Given the description of an element on the screen output the (x, y) to click on. 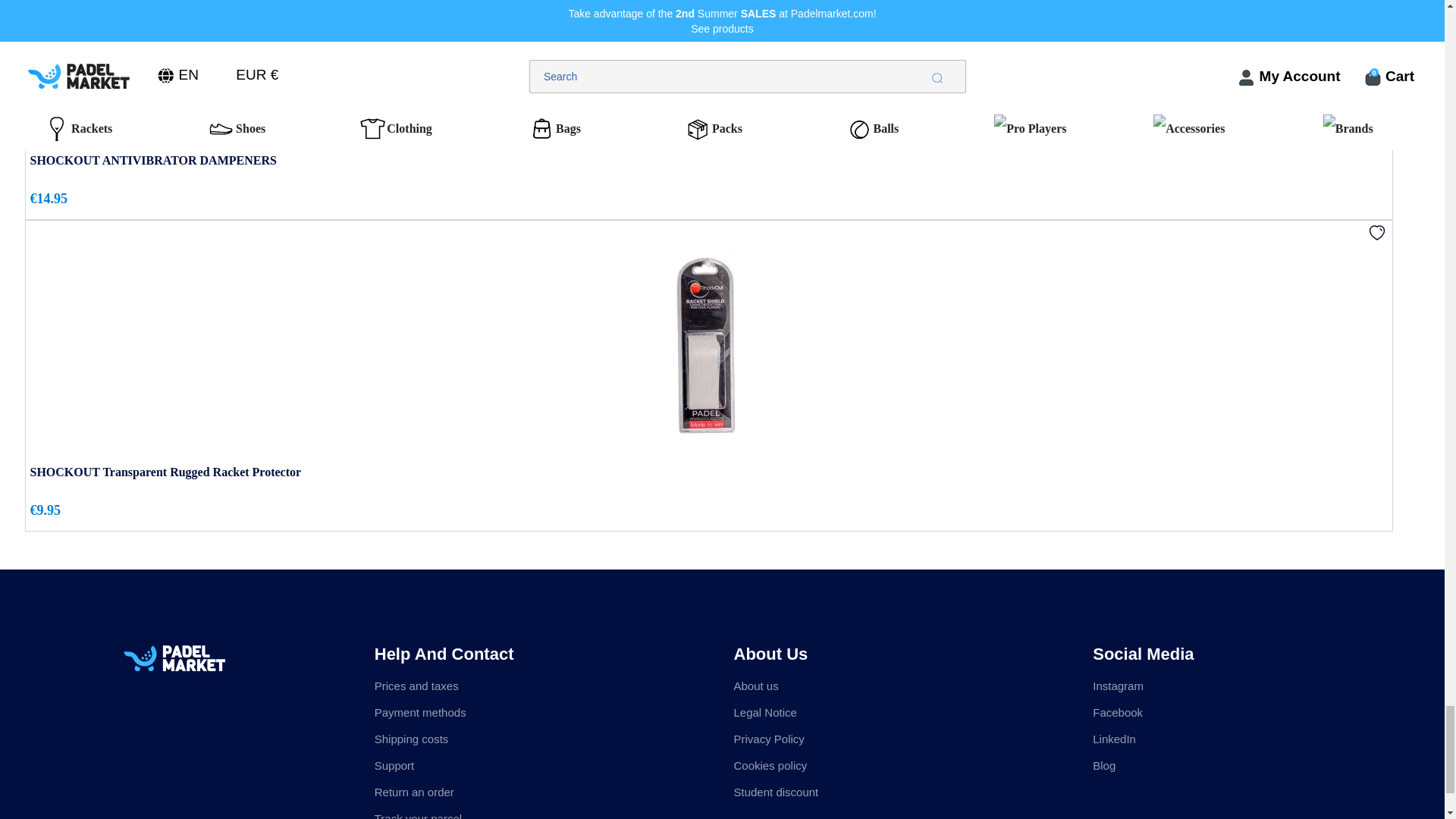
Add to Wishlist (1377, 231)
